Given the description of an element on the screen output the (x, y) to click on. 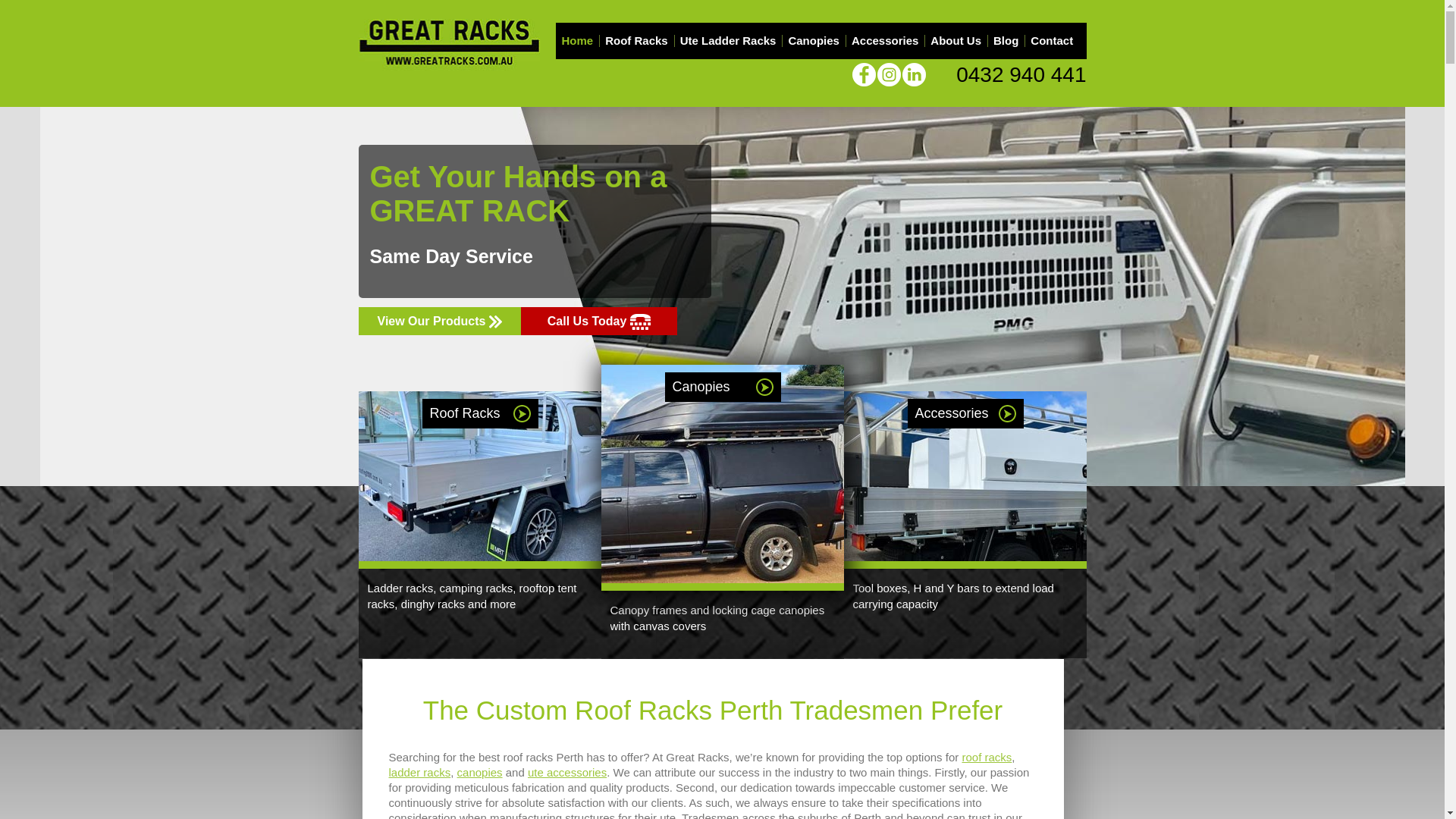
View Our Products Element type: text (438, 321)
Canopies Element type: text (722, 386)
Roof Racks Element type: text (479, 413)
Accessories Element type: text (884, 40)
Ute Ladder Racks Element type: text (728, 40)
Great Racks Element type: hover (448, 43)
Blog Element type: text (1005, 40)
Roof Racks Element type: text (636, 40)
About Us Element type: text (955, 40)
canopies Element type: text (479, 771)
Home Element type: text (577, 40)
Call Us Today Element type: text (598, 321)
ute accessories Element type: text (566, 771)
roof racks Element type: text (986, 756)
Contact Element type: text (1051, 40)
Canopies Element type: text (813, 40)
0432 940 441 Element type: text (1020, 75)
Accessories Element type: text (964, 413)
ladder racks Element type: text (419, 771)
